Given the description of an element on the screen output the (x, y) to click on. 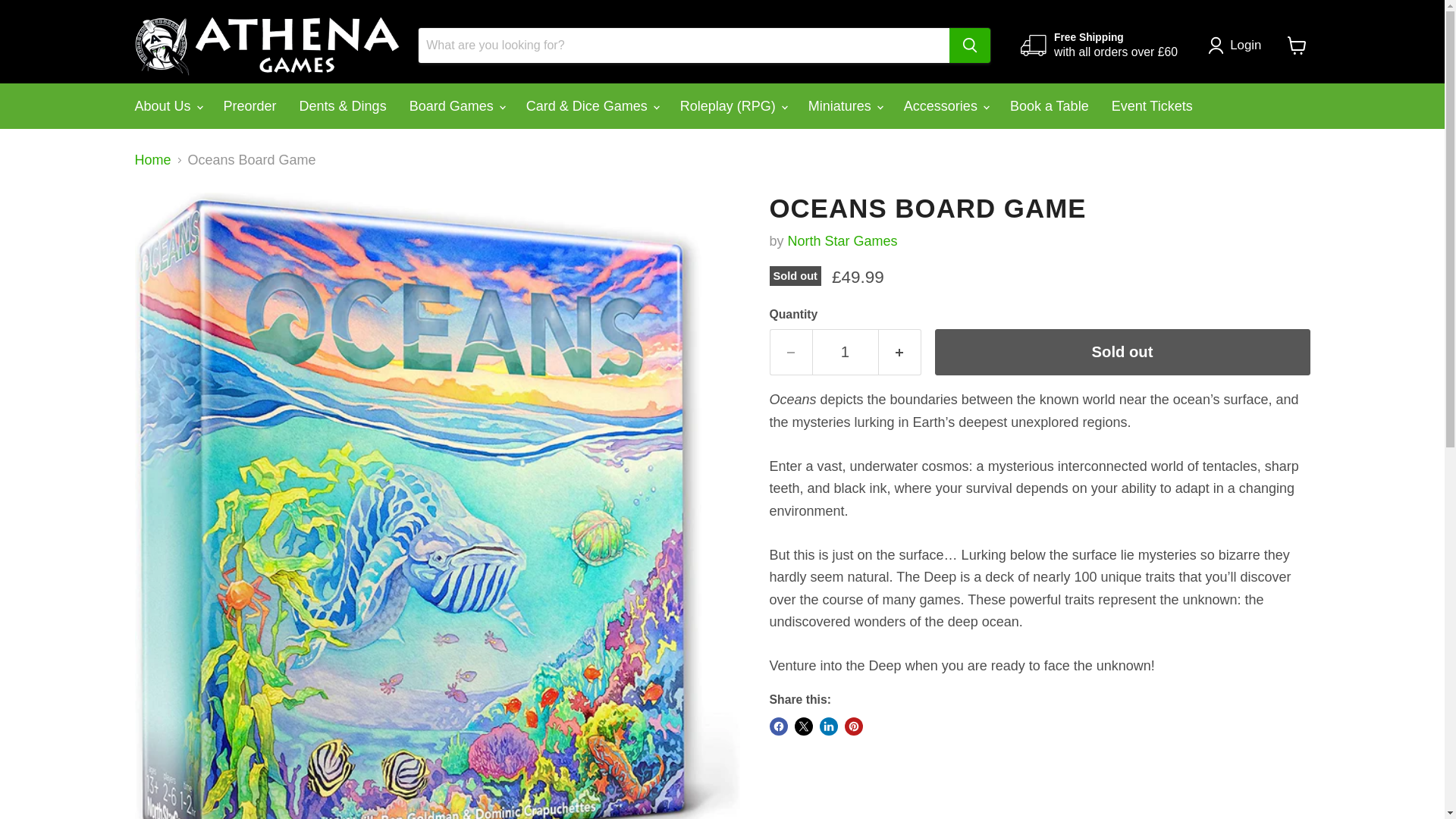
North Star Games (842, 240)
Login (1238, 45)
Preorder (250, 105)
View cart (1296, 45)
1 (843, 352)
